Given the description of an element on the screen output the (x, y) to click on. 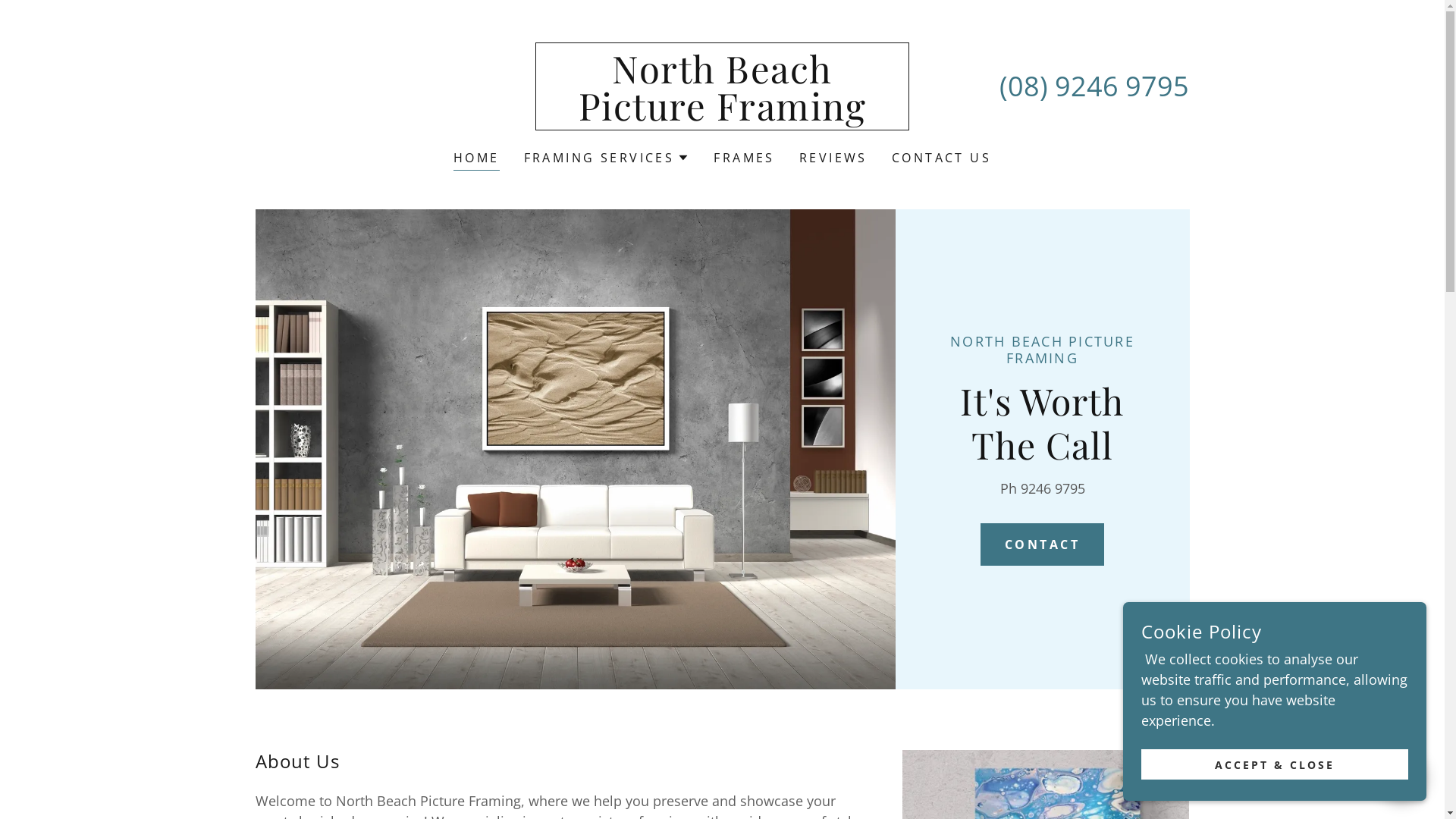
CONTACT Element type: text (1042, 544)
REVIEWS Element type: text (833, 157)
HOME Element type: text (476, 159)
FRAMING SERVICES Element type: text (607, 157)
FRAMES Element type: text (744, 157)
(08) 9246 9795 Element type: text (1094, 85)
ACCEPT & CLOSE Element type: text (1274, 764)
CONTACT US Element type: text (941, 157)
North Beach Picture Framing Element type: text (722, 115)
